Given the description of an element on the screen output the (x, y) to click on. 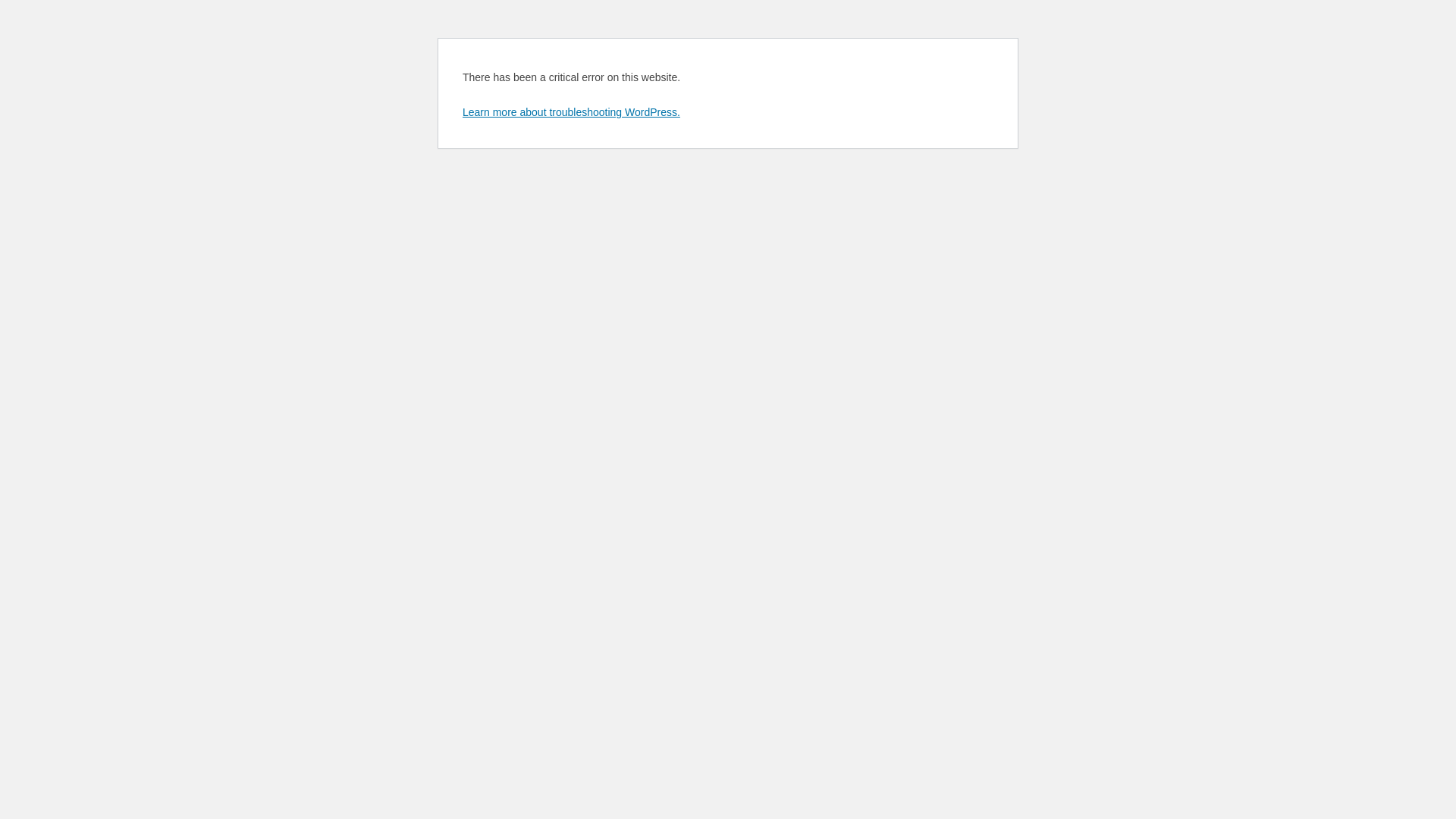
Learn more about troubleshooting WordPress. Element type: text (571, 112)
